Given the description of an element on the screen output the (x, y) to click on. 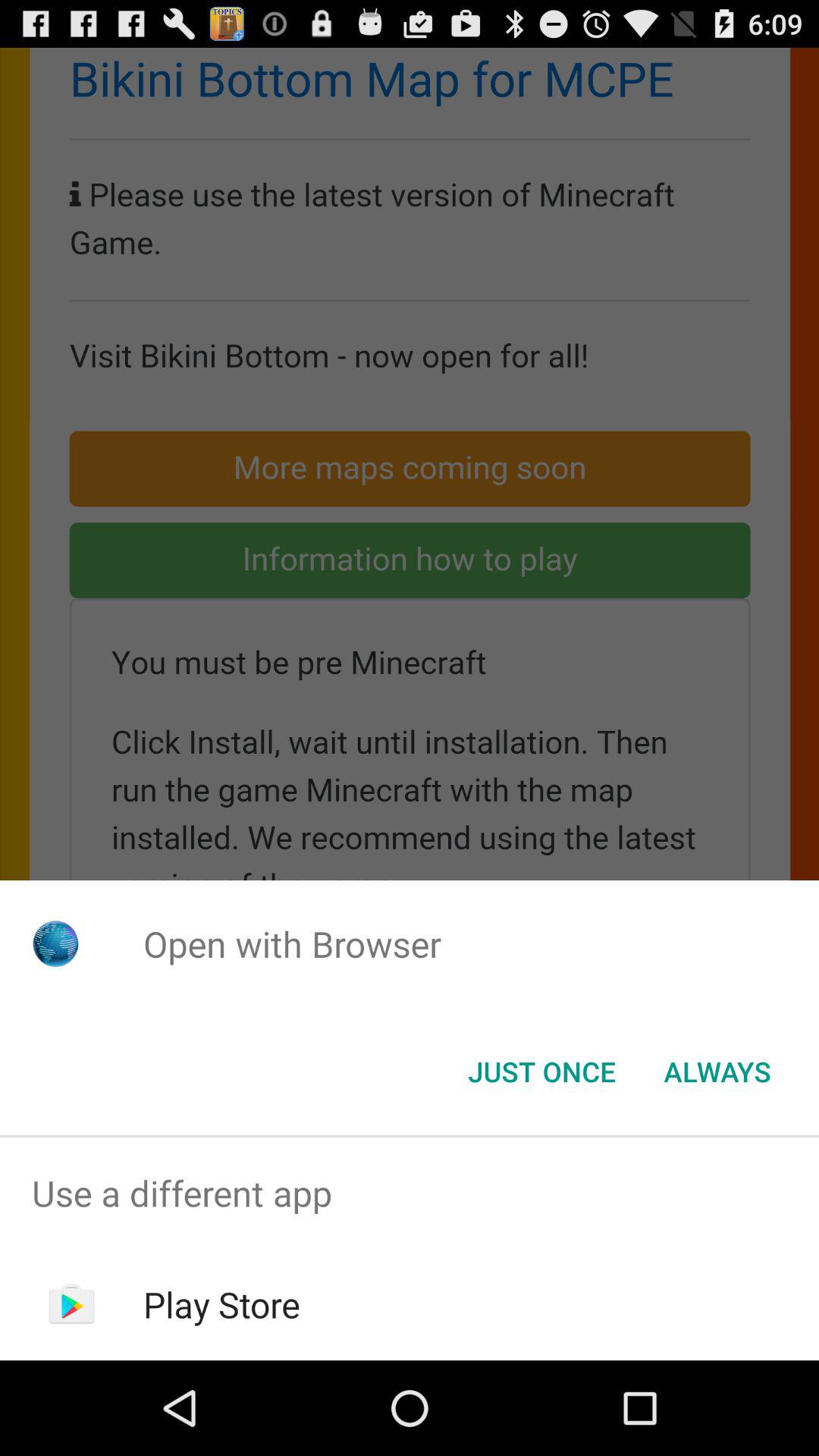
scroll until the play store item (221, 1304)
